Given the description of an element on the screen output the (x, y) to click on. 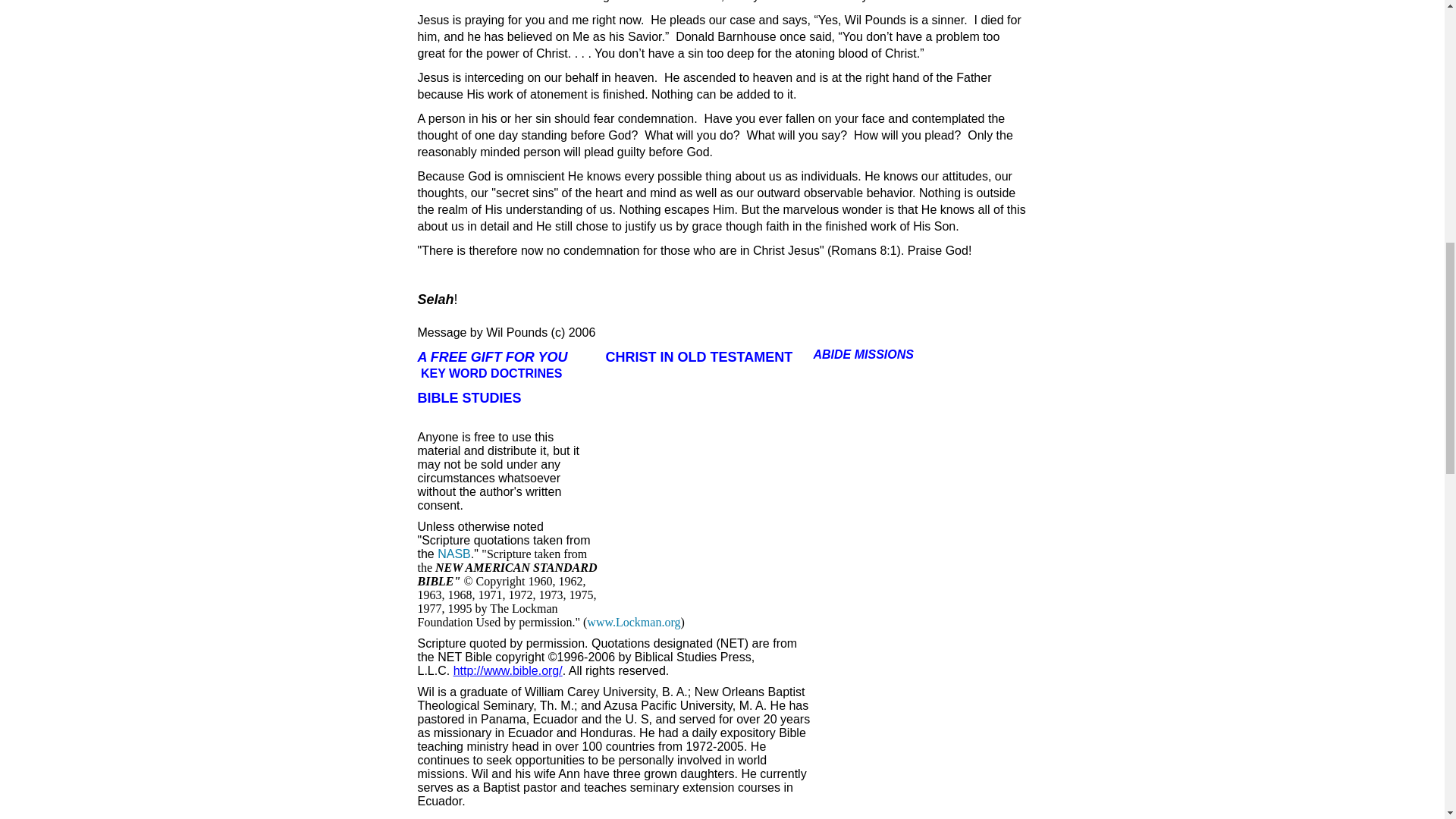
A FREE GIFT FOR YOU  (493, 356)
www.Lockman.org (632, 621)
KEY WORD DOCTRINES (491, 373)
BIBLE STUDIES (468, 397)
ABIDE MISSIONS (862, 354)
CHRIST IN OLD TESTAMENT (699, 356)
NASB (454, 553)
